Given the description of an element on the screen output the (x, y) to click on. 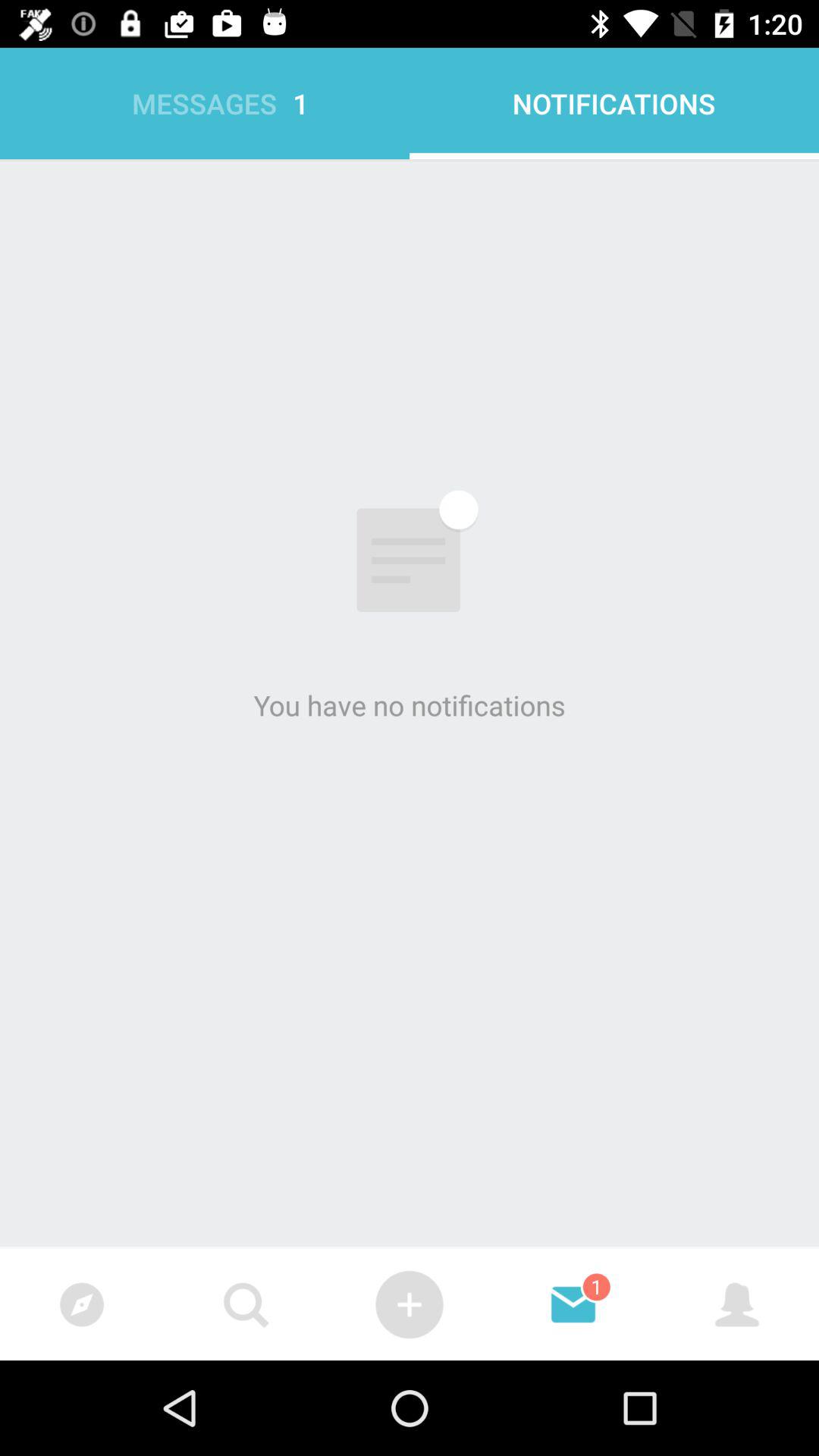
click on the icon left to search icon (82, 1305)
move to first icon at bottom right (737, 1305)
click the button on the right next to the  button on the web page (573, 1305)
